Given the description of an element on the screen output the (x, y) to click on. 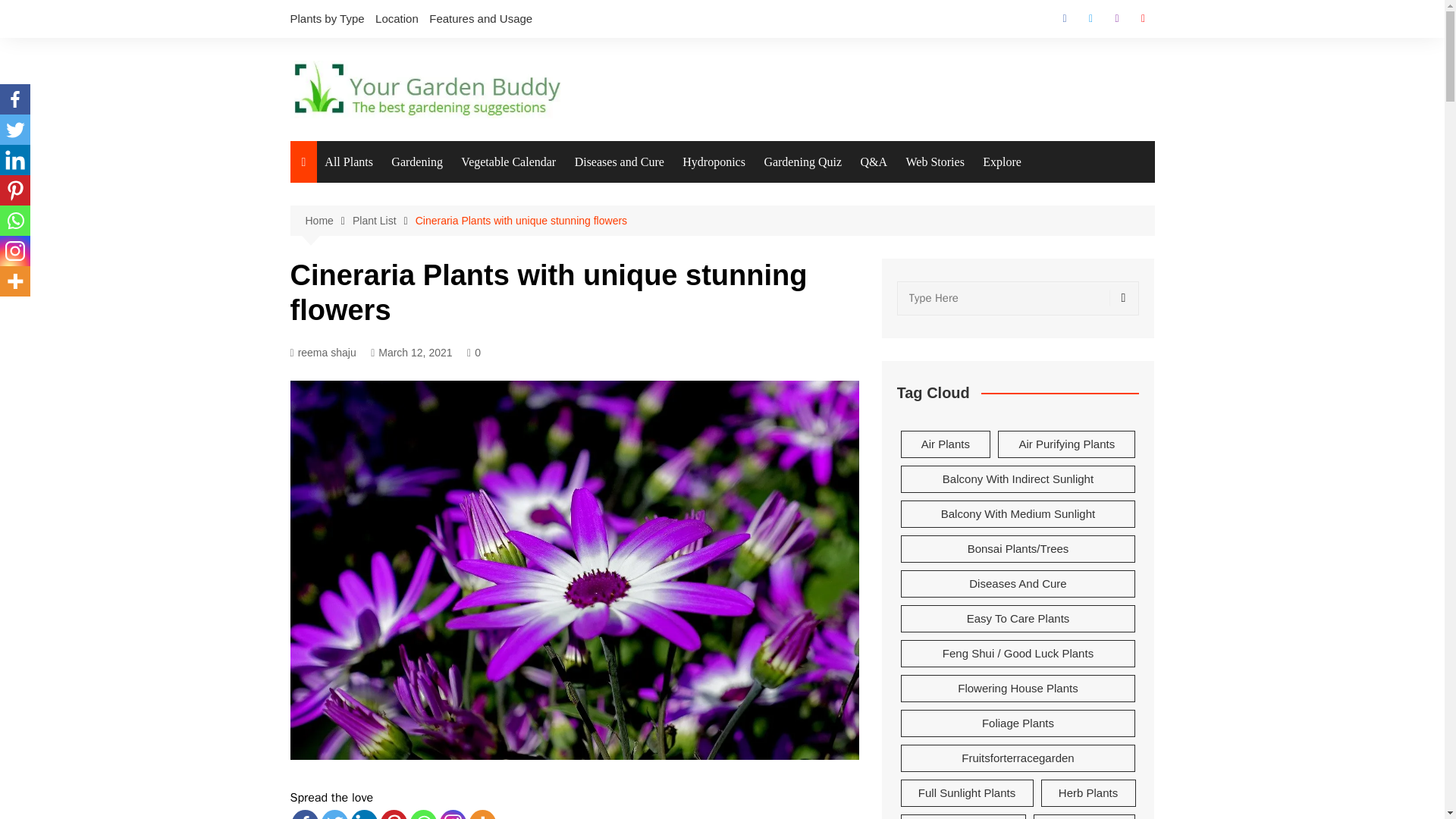
Facebook (1063, 18)
Gardening Quiz (801, 161)
Garden Essentials (467, 325)
Cineraria Plants with unique stunning flowers (520, 220)
Creative Gardening (467, 230)
Organic Gardening (467, 388)
Linkedin (15, 159)
More (15, 281)
Whatsapp (422, 814)
Diseases and Cure (619, 161)
